Given the description of an element on the screen output the (x, y) to click on. 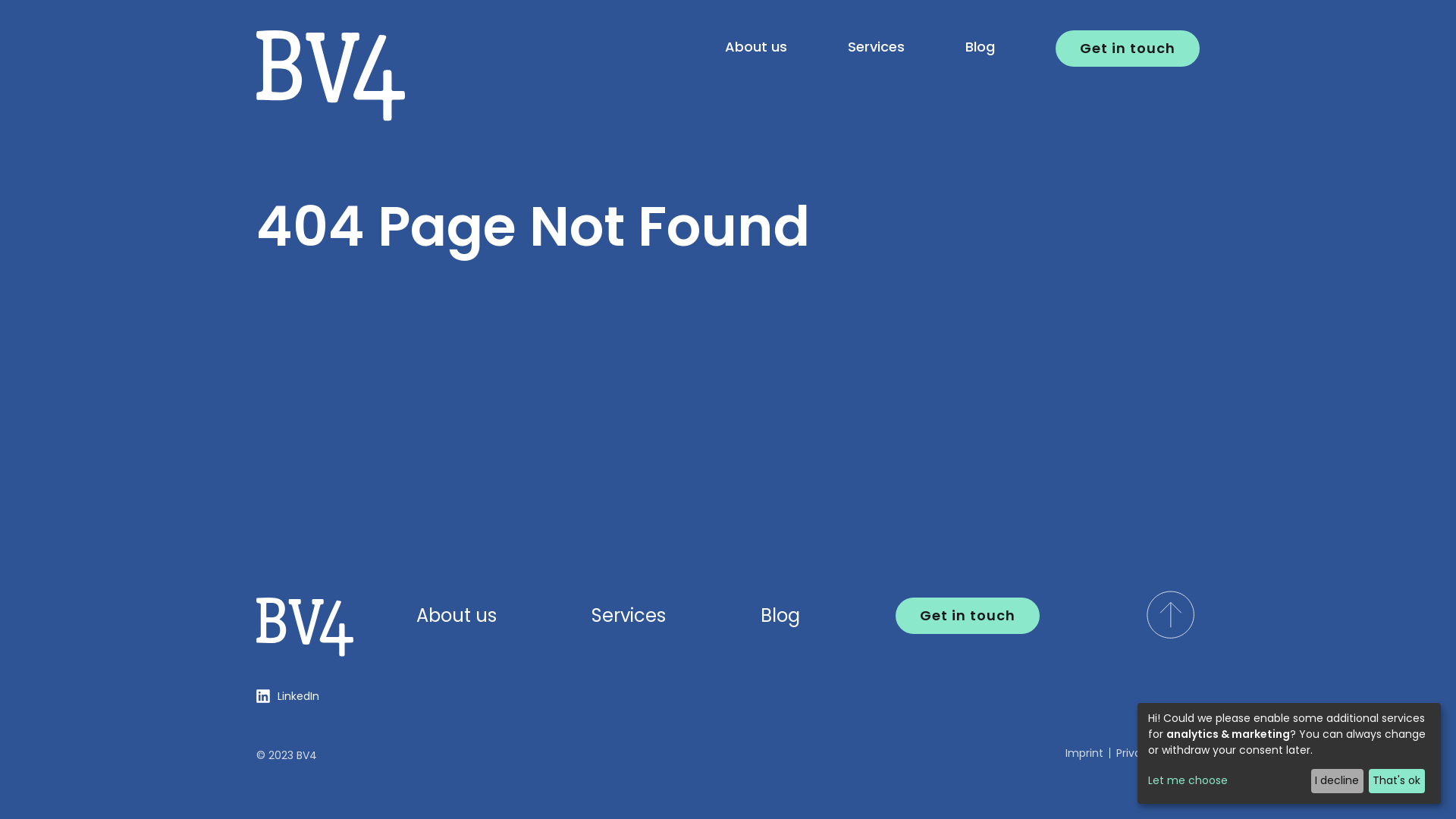
Get in touch Element type: text (1127, 48)
Blog Element type: text (780, 614)
About us Element type: text (755, 46)
Privacy Policy Element type: text (1151, 752)
That's ok Element type: text (1396, 780)
I decline Element type: text (1337, 780)
Let me choose Element type: text (1226, 780)
Imprint Element type: text (1084, 752)
LinkedIn Element type: text (287, 695)
Get in touch Element type: text (967, 615)
Services Element type: text (628, 614)
scroll to top of the page Element type: hover (1170, 614)
Blog Element type: text (979, 46)
Services Element type: text (875, 46)
About us Element type: text (456, 614)
